Given the description of an element on the screen output the (x, y) to click on. 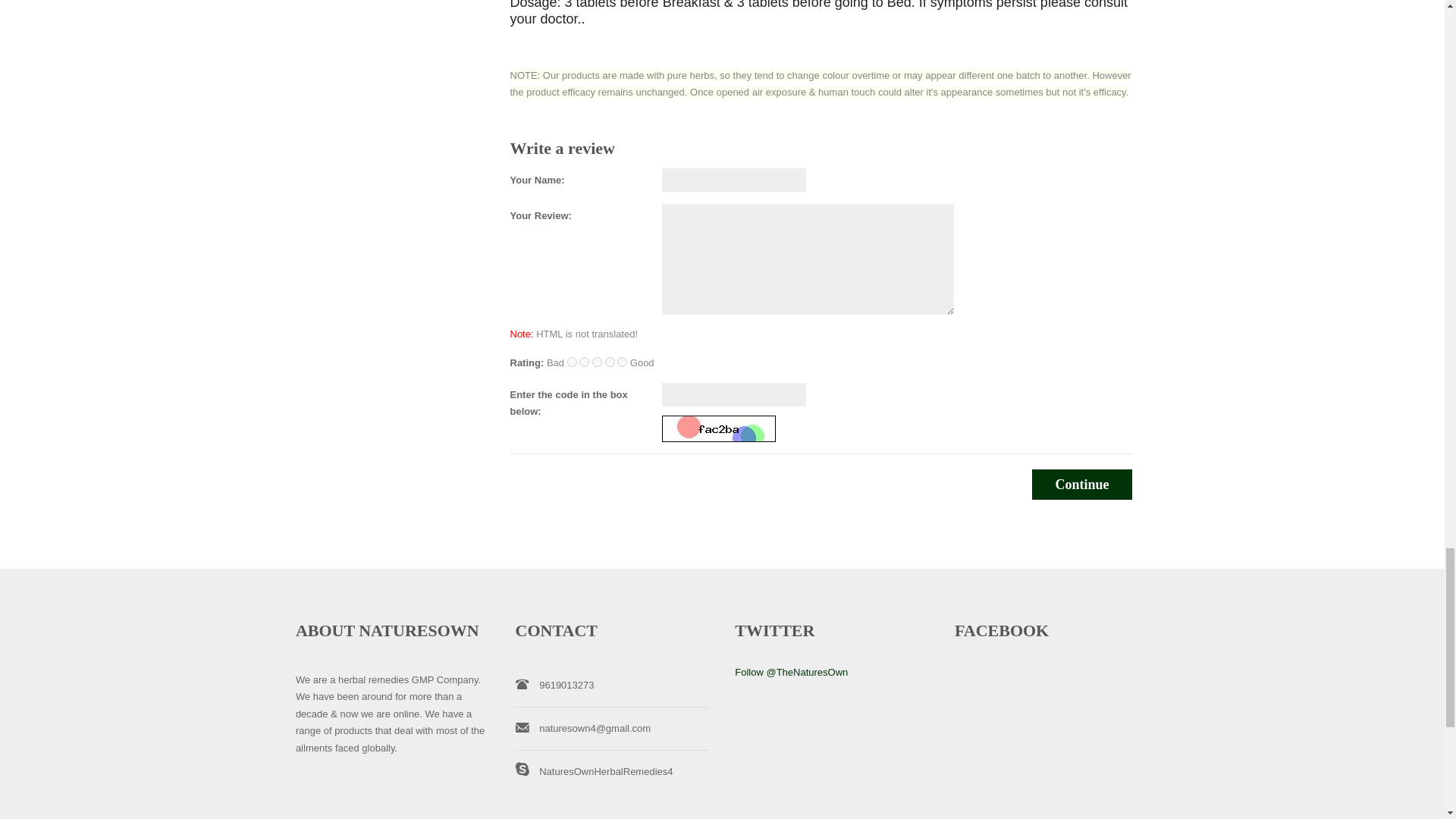
3 (597, 361)
1 (571, 361)
5 (622, 361)
4 (609, 361)
2 (584, 361)
